Given the description of an element on the screen output the (x, y) to click on. 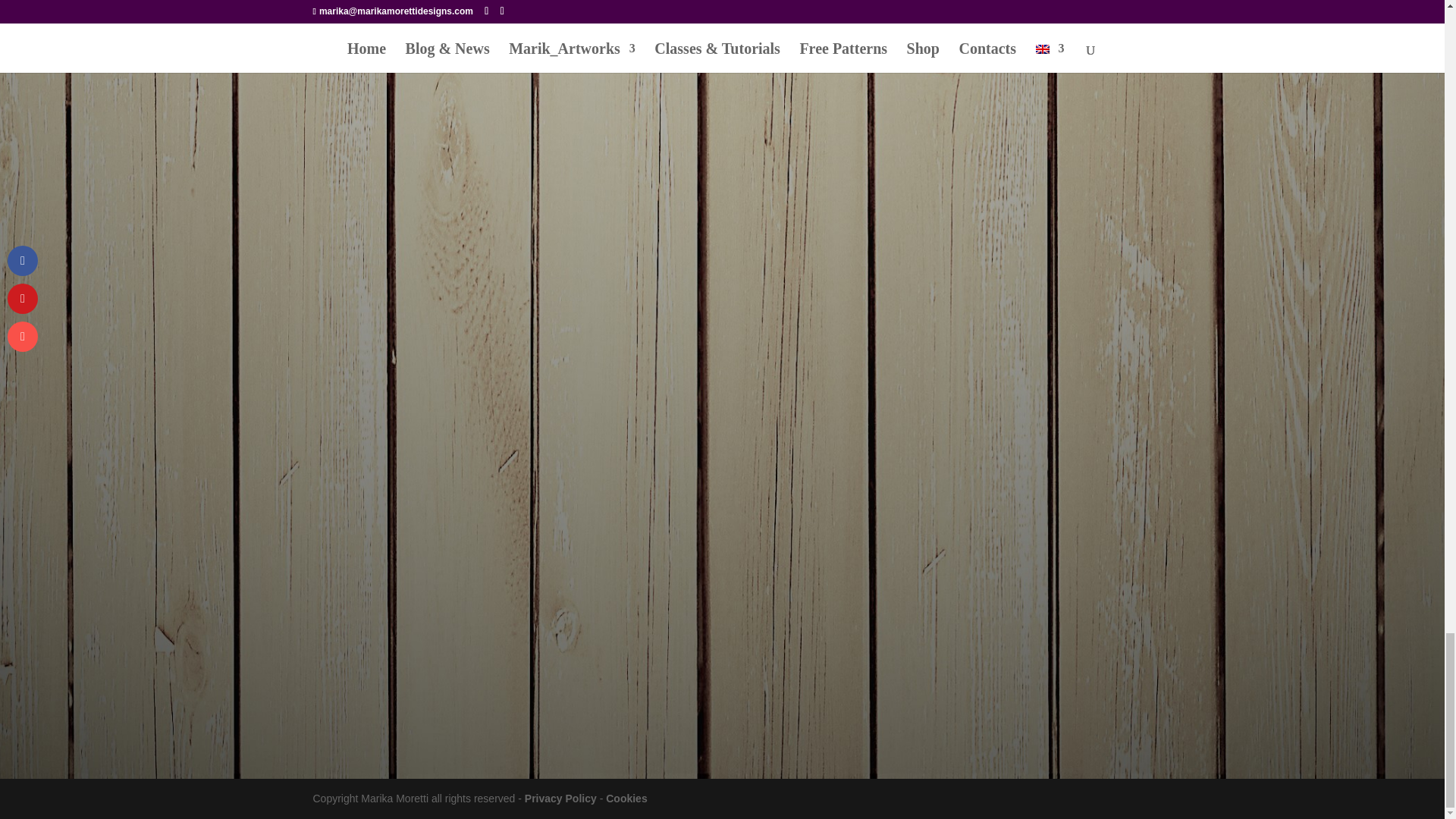
Privacy Policy  (560, 798)
